Given the description of an element on the screen output the (x, y) to click on. 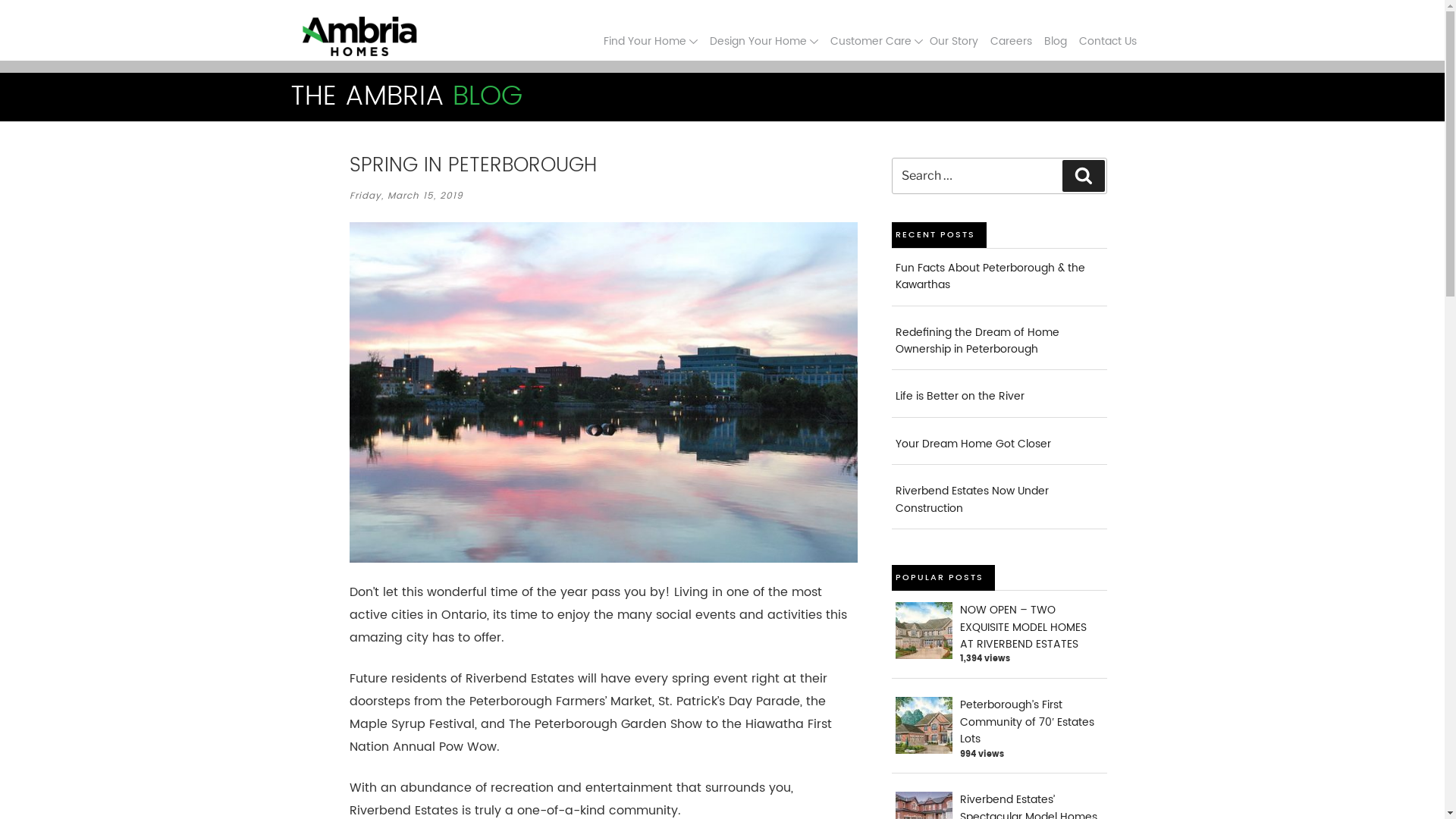
Blog Element type: text (1054, 41)
Riverbend Estates Now Under Construction Element type: text (971, 499)
Find Your Home Element type: text (650, 41)
Search Element type: text (1082, 175)
Friday, March 15, 2019 Element type: text (405, 196)
Life is Better on the River Element type: text (959, 395)
Careers Element type: text (1011, 41)
Skip to content Element type: text (0, 121)
Your Dream Home Got Closer Element type: text (973, 443)
Redefining the Dream of Home Ownership in Peterborough Element type: text (977, 340)
Design Your Home Element type: text (763, 41)
THE AMBRIA BLOG Element type: text (405, 96)
Contact Us Element type: text (1107, 41)
Customer Care Element type: text (875, 41)
Fun Facts About Peterborough & the Kawarthas Element type: text (990, 276)
Our Story Element type: text (953, 41)
